Given the description of an element on the screen output the (x, y) to click on. 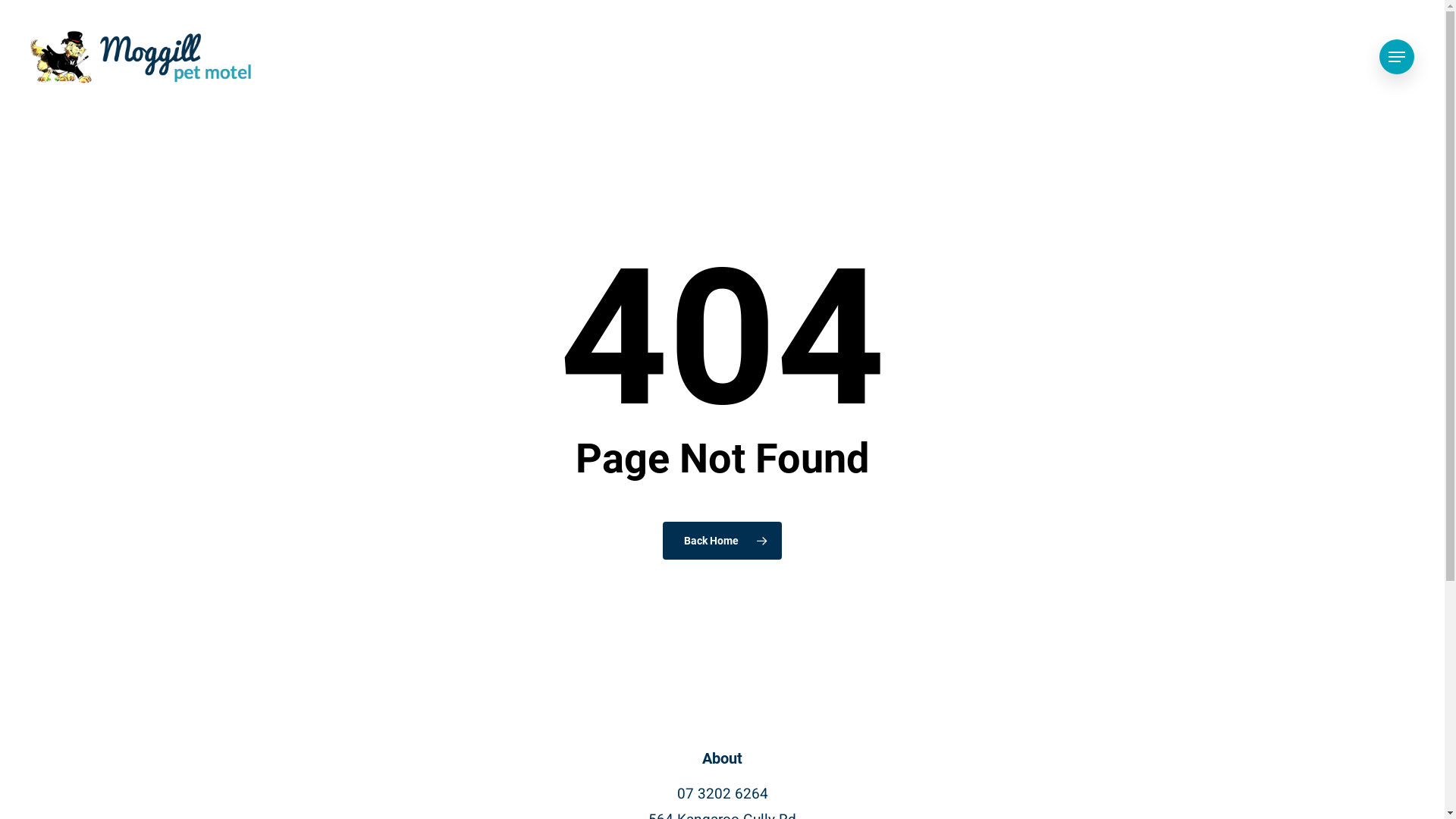
Menu Element type: text (1396, 56)
Back Home Element type: text (721, 540)
